Given the description of an element on the screen output the (x, y) to click on. 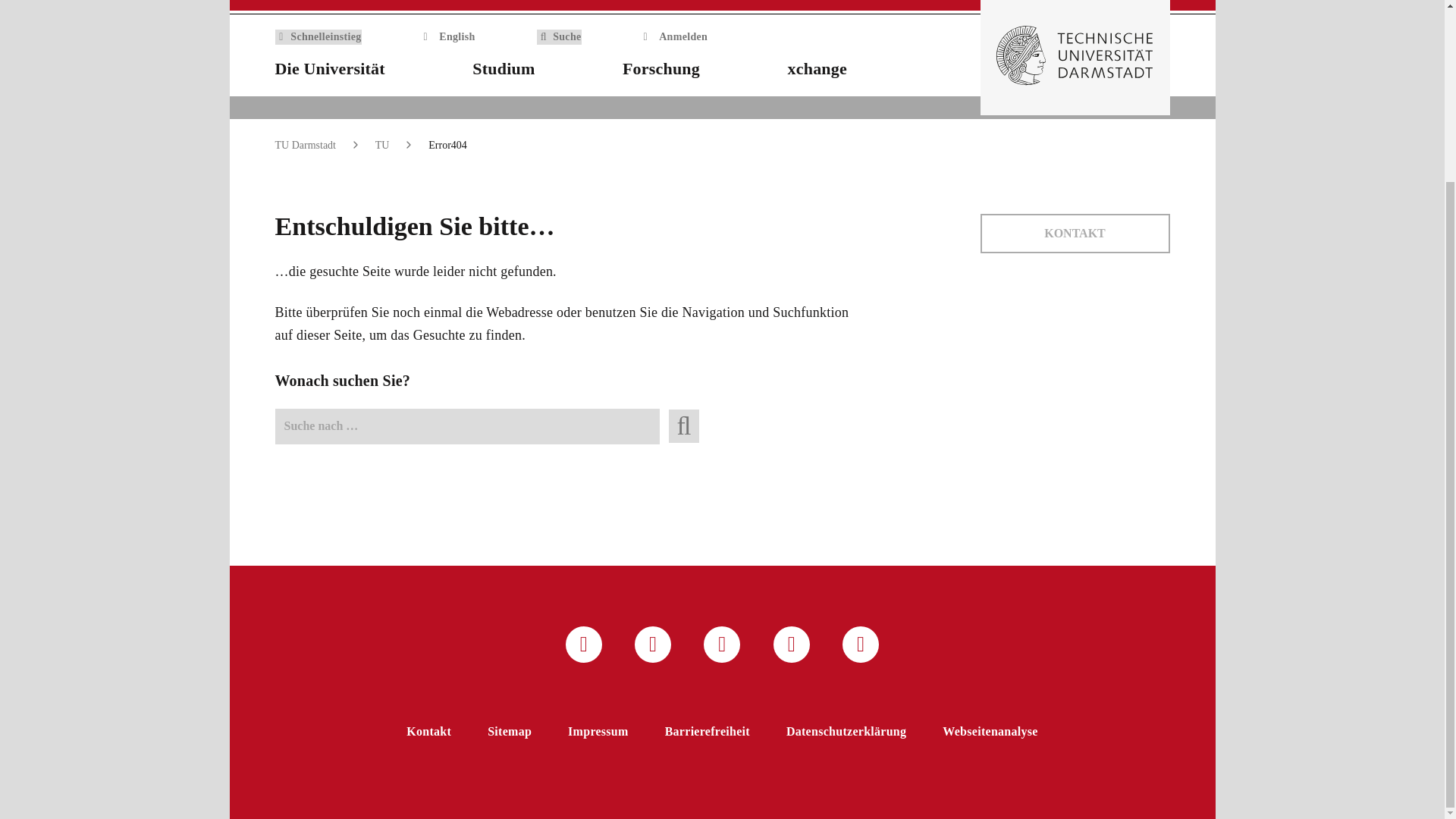
LinkedIn-Seite der TU Darmstadt (861, 644)
Twitter-Kanal der TU Darmstadt (584, 644)
YouTube-Kanal der TU Darmstadt (791, 644)
Instagram-Kanal der TU Darmstadt (652, 644)
Facebook-Fanpage der TU Darmstadt (721, 644)
